Given the description of an element on the screen output the (x, y) to click on. 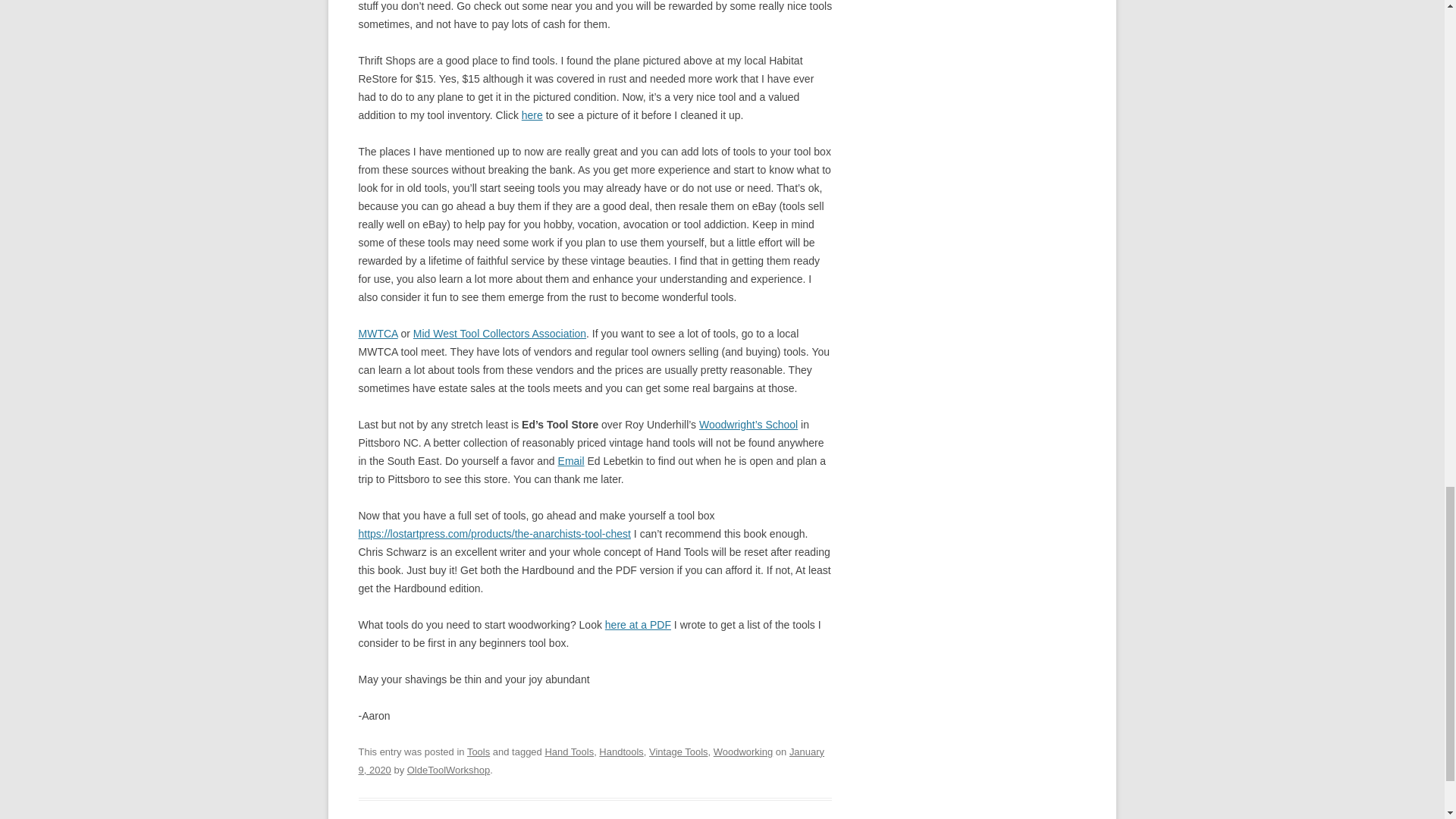
January 9, 2020 (591, 760)
MWTCA (377, 333)
Email (571, 460)
OldeToolWorkshop (448, 769)
Handtools (620, 751)
here (532, 114)
Mid West Tool Collectors Association (499, 333)
Vintage Tools (678, 751)
Tools (478, 751)
Hand Tools (569, 751)
Woodworking (743, 751)
here at a PDF (638, 624)
View all posts by OldeToolWorkshop (448, 769)
10:23 am (591, 760)
